Given the description of an element on the screen output the (x, y) to click on. 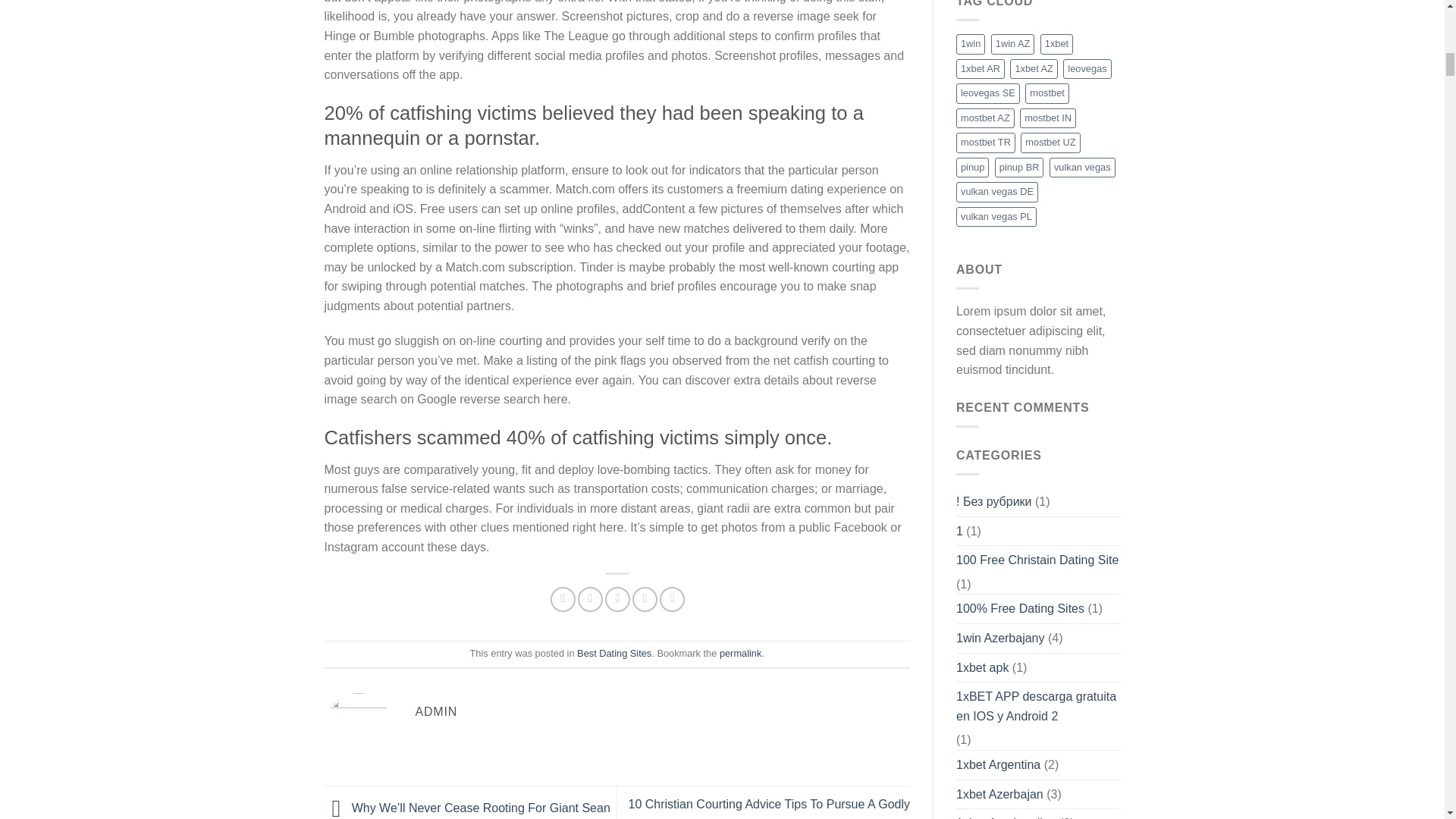
permalink (740, 653)
Share on Twitter (590, 599)
Share on Facebook (562, 599)
Email to a Friend (617, 599)
Best Dating Sites (613, 653)
Pin on Pinterest (644, 599)
Share on LinkedIn (671, 599)
